Given the description of an element on the screen output the (x, y) to click on. 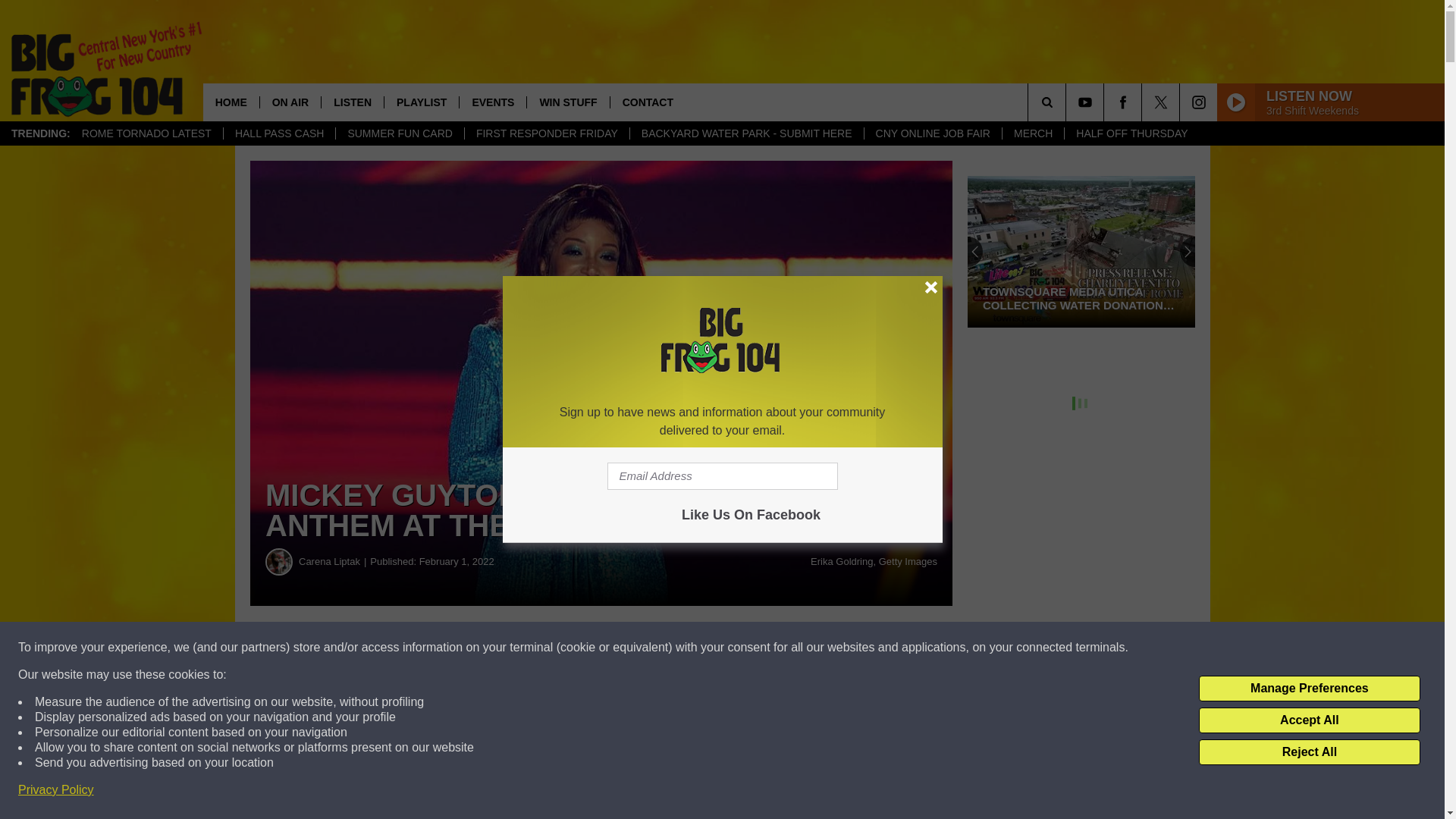
WIN STUFF (566, 102)
PLAYLIST (421, 102)
Email Address (722, 475)
CNY ONLINE JOB FAIR (932, 133)
SUMMER FUN CARD (398, 133)
ROME TORNADO LATEST (145, 133)
SEARCH (1068, 102)
SEARCH (1068, 102)
HALF OFF THURSDAY (1131, 133)
Privacy Policy (55, 789)
BACKYARD WATER PARK - SUBMIT HERE (745, 133)
HOME (231, 102)
Reject All (1309, 751)
MERCH (1032, 133)
Manage Preferences (1309, 688)
